Given the description of an element on the screen output the (x, y) to click on. 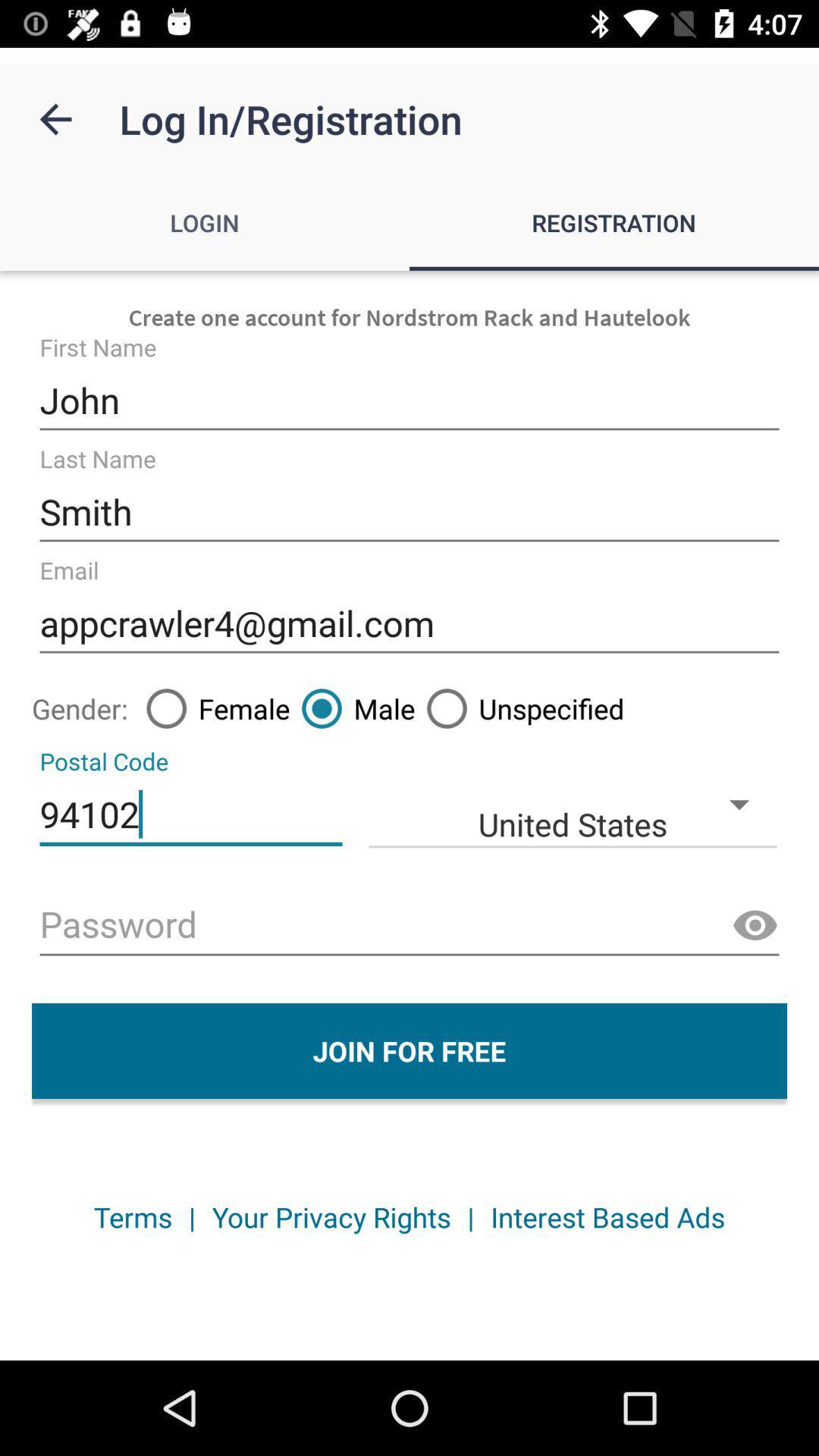
open keyboard (409, 926)
